Given the description of an element on the screen output the (x, y) to click on. 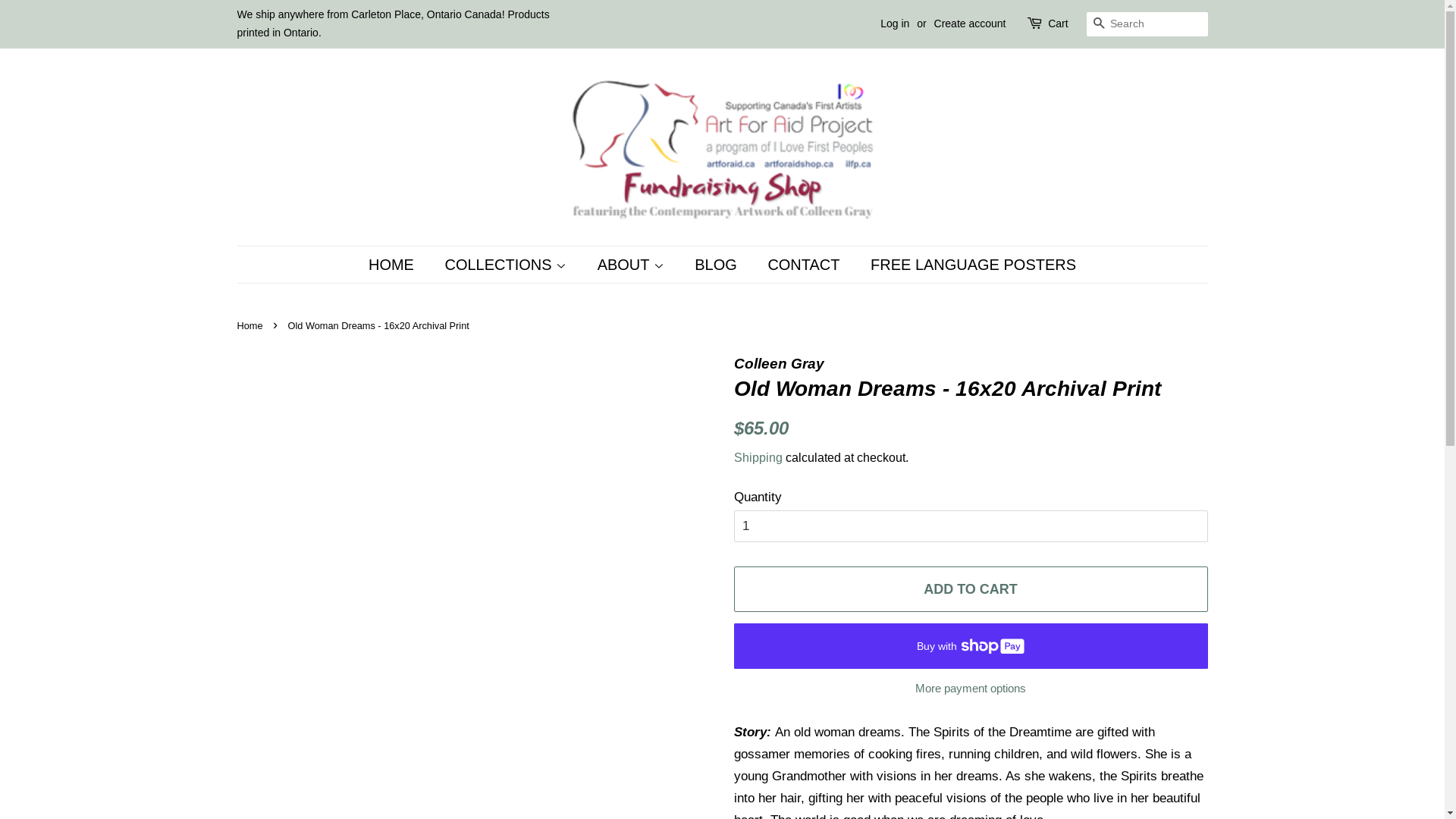
More payment options Element type: text (971, 687)
ADD TO CART Element type: text (971, 588)
Shipping Element type: text (758, 457)
BLOG Element type: text (717, 264)
Cart Element type: text (1057, 24)
SEARCH Element type: text (1097, 24)
COLLECTIONS Element type: text (507, 264)
FREE LANGUAGE POSTERS Element type: text (967, 264)
CONTACT Element type: text (805, 264)
ABOUT Element type: text (632, 264)
Create account Element type: text (970, 23)
Home Element type: text (251, 325)
Log in Element type: text (894, 23)
HOME Element type: text (398, 264)
